Given the description of an element on the screen output the (x, y) to click on. 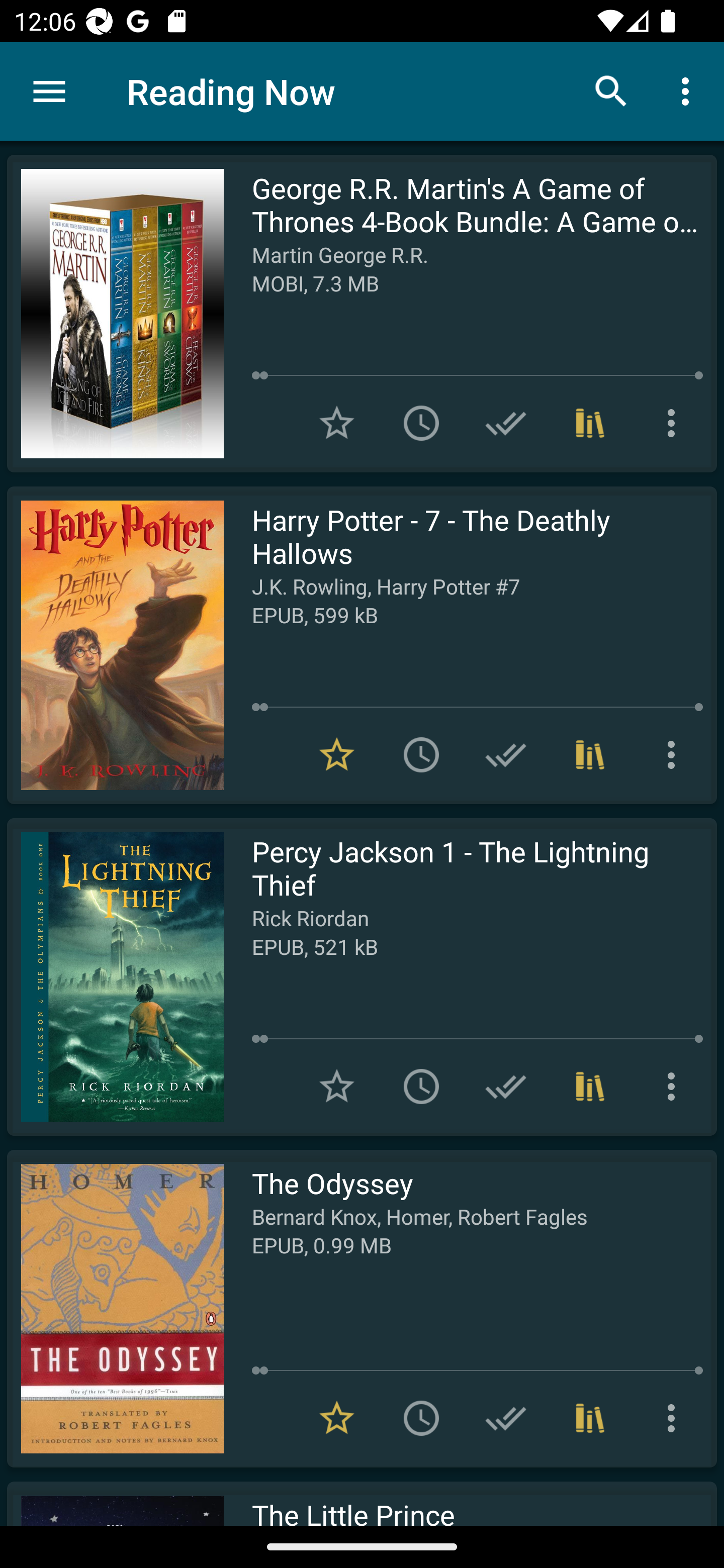
Menu (49, 91)
Search books & documents (611, 90)
More options (688, 90)
Add to Favorites (336, 423)
Add to To read (421, 423)
Add to Have read (505, 423)
Collections (1) (590, 423)
More options (674, 423)
Read Harry Potter - 7 - The Deathly Hallows (115, 645)
Remove from Favorites (336, 753)
Add to To read (421, 753)
Add to Have read (505, 753)
Collections (1) (590, 753)
More options (674, 753)
Read Percy Jackson 1 - The Lightning Thief (115, 976)
Add to Favorites (336, 1086)
Add to To read (421, 1086)
Add to Have read (505, 1086)
Collections (1) (590, 1086)
More options (674, 1086)
Read The Odyssey (115, 1308)
Remove from Favorites (336, 1417)
Add to To read (421, 1417)
Add to Have read (505, 1417)
Collections (2) (590, 1417)
More options (674, 1417)
